Given the description of an element on the screen output the (x, y) to click on. 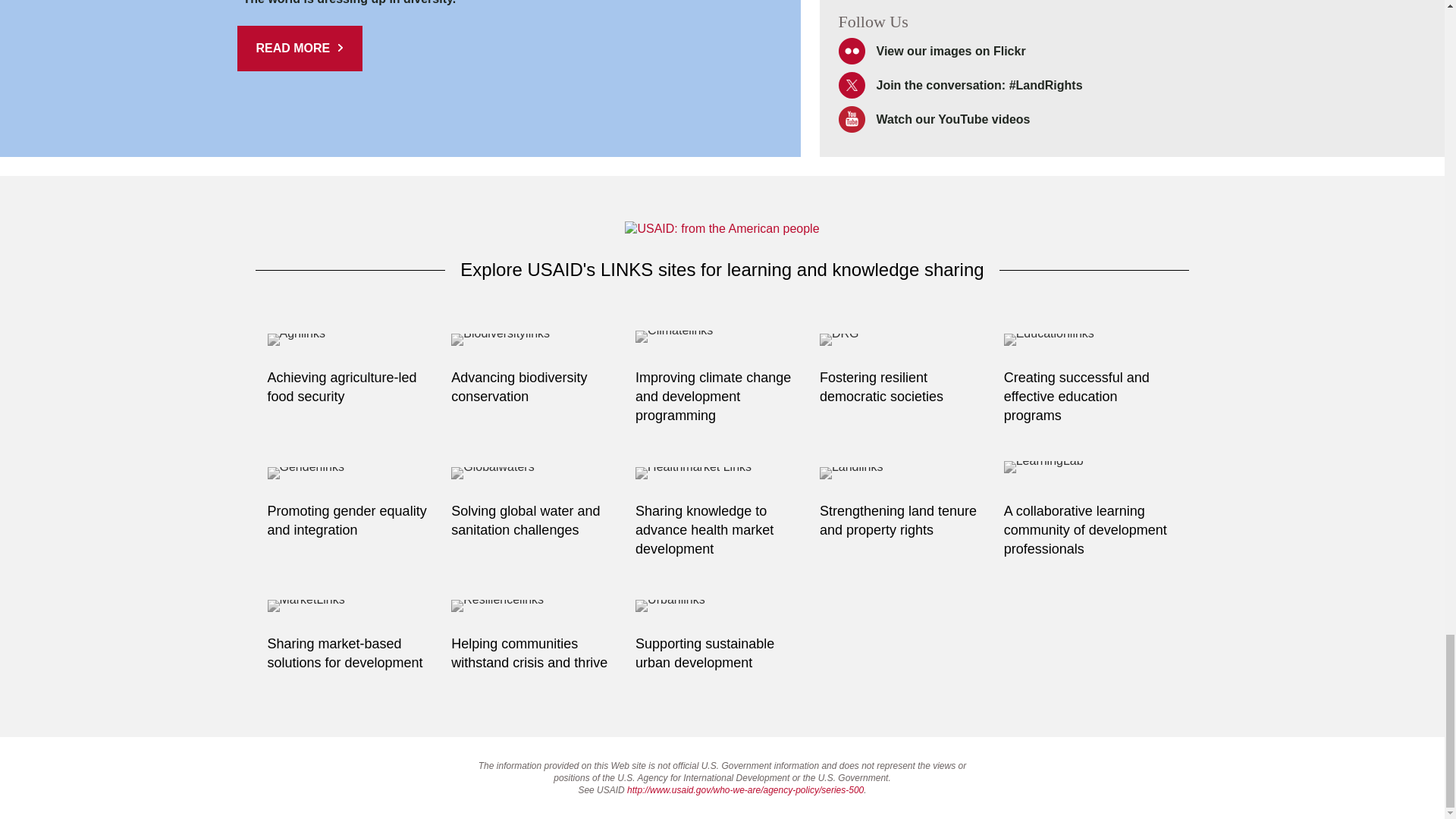
Go to MarketLinks (353, 609)
Go to Agrilinks (353, 343)
Go to Genderlinks (353, 476)
Go to Globalwaters (537, 476)
Go to DRG (905, 343)
Go to Biodiversitylinks (537, 343)
Go to LearningLab (1090, 476)
Go to Healthmarket Links (721, 476)
Go to Climatelinks (721, 343)
Go to Educationlinks (1090, 343)
Go to Resiliencelinks (537, 609)
Go to Landlinks (905, 476)
Go to USAID (721, 228)
